Given the description of an element on the screen output the (x, y) to click on. 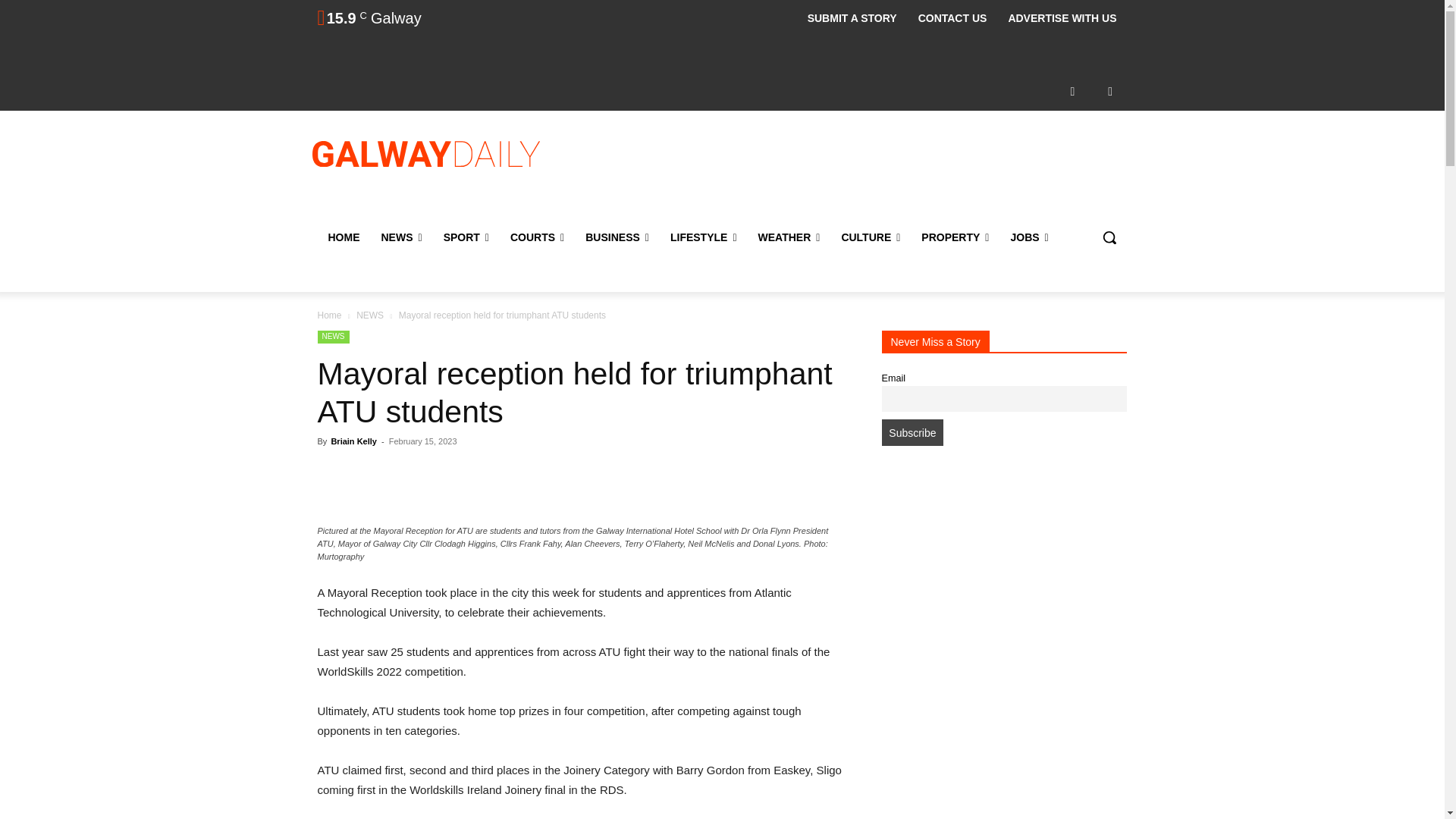
Facebook (1072, 91)
Subscribe (911, 432)
Twitter (1109, 91)
